Given the description of an element on the screen output the (x, y) to click on. 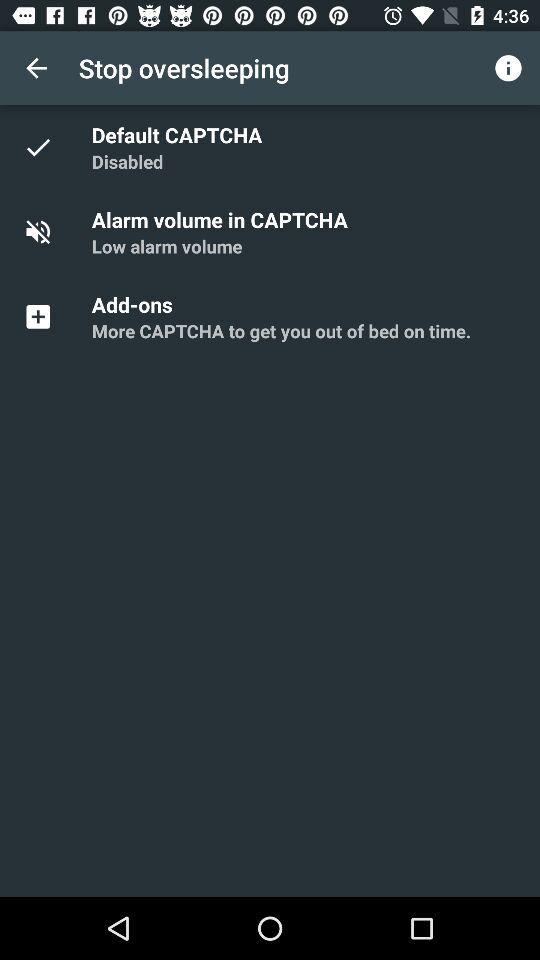
press the default captcha icon (180, 134)
